Given the description of an element on the screen output the (x, y) to click on. 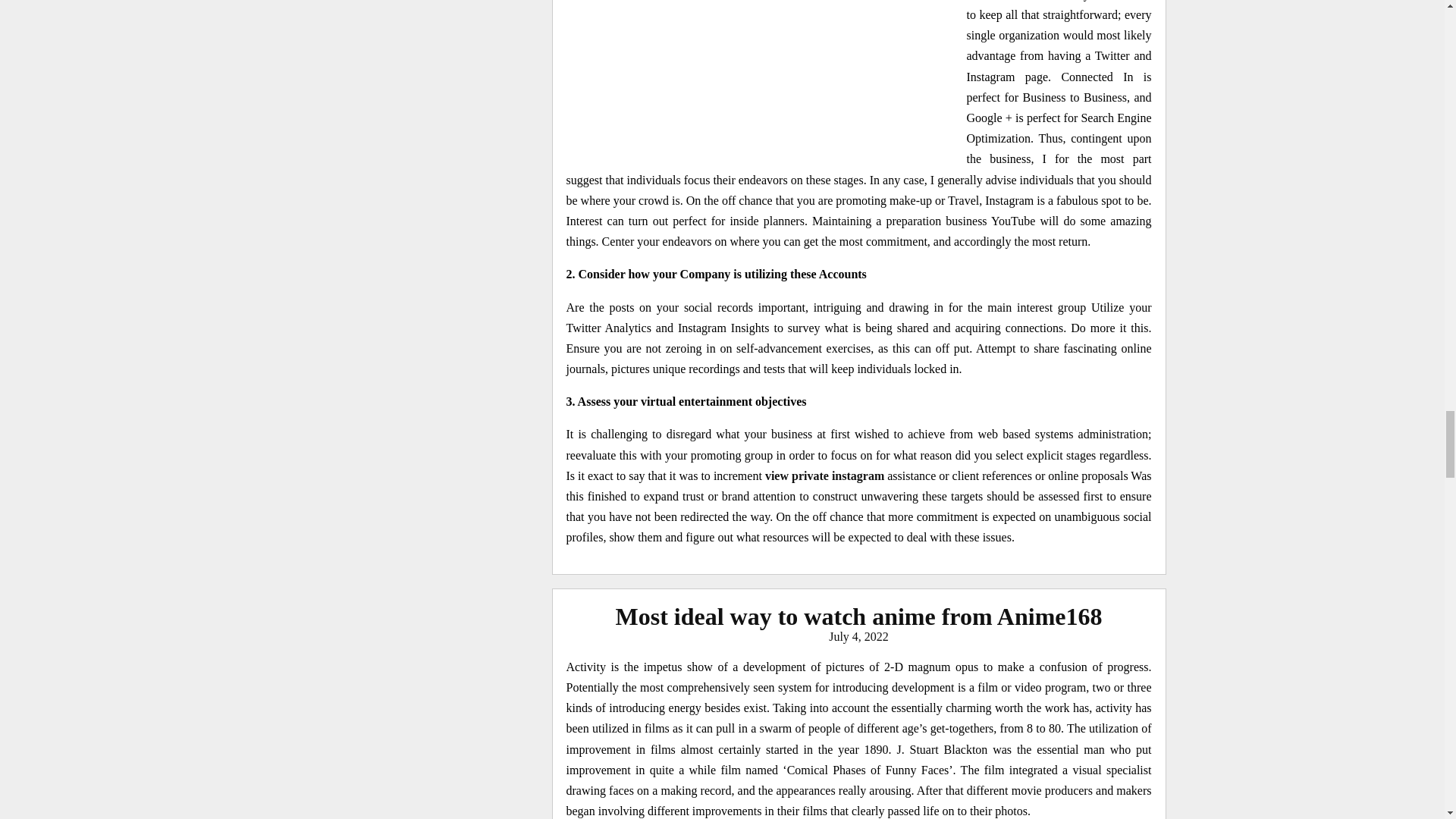
July 4, 2022 (858, 635)
view private instagram (824, 475)
Most ideal way to watch anime from Anime168 (858, 615)
